Given the description of an element on the screen output the (x, y) to click on. 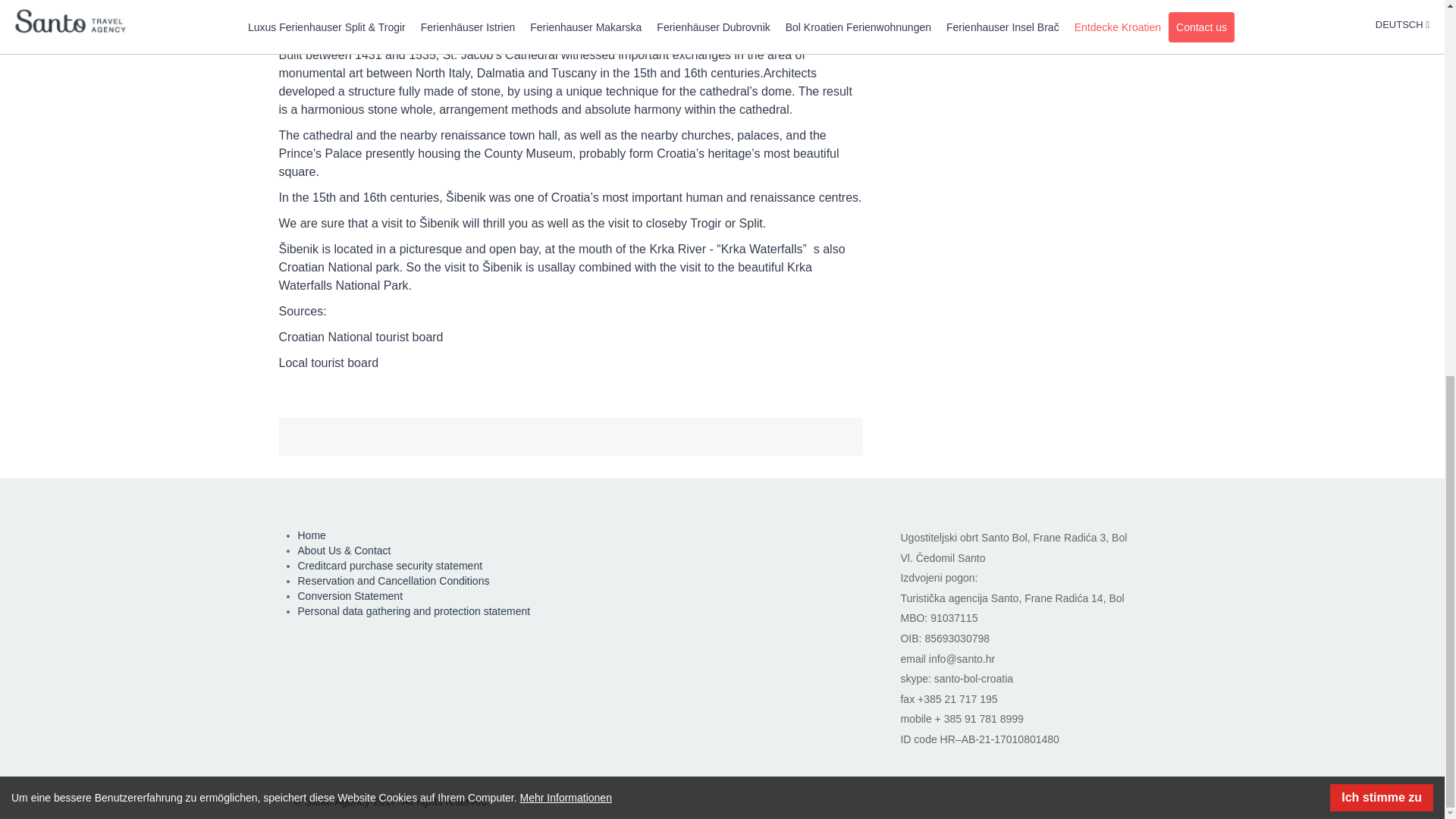
Reservation and Cancellation Conditions (393, 580)
Home (310, 535)
Creditcard purchase security statement (389, 565)
Mehr Informationen (565, 105)
Conversion Statement (350, 595)
Ich stimme zu (1381, 104)
Personal data gathering and protection statement (413, 611)
